Given the description of an element on the screen output the (x, y) to click on. 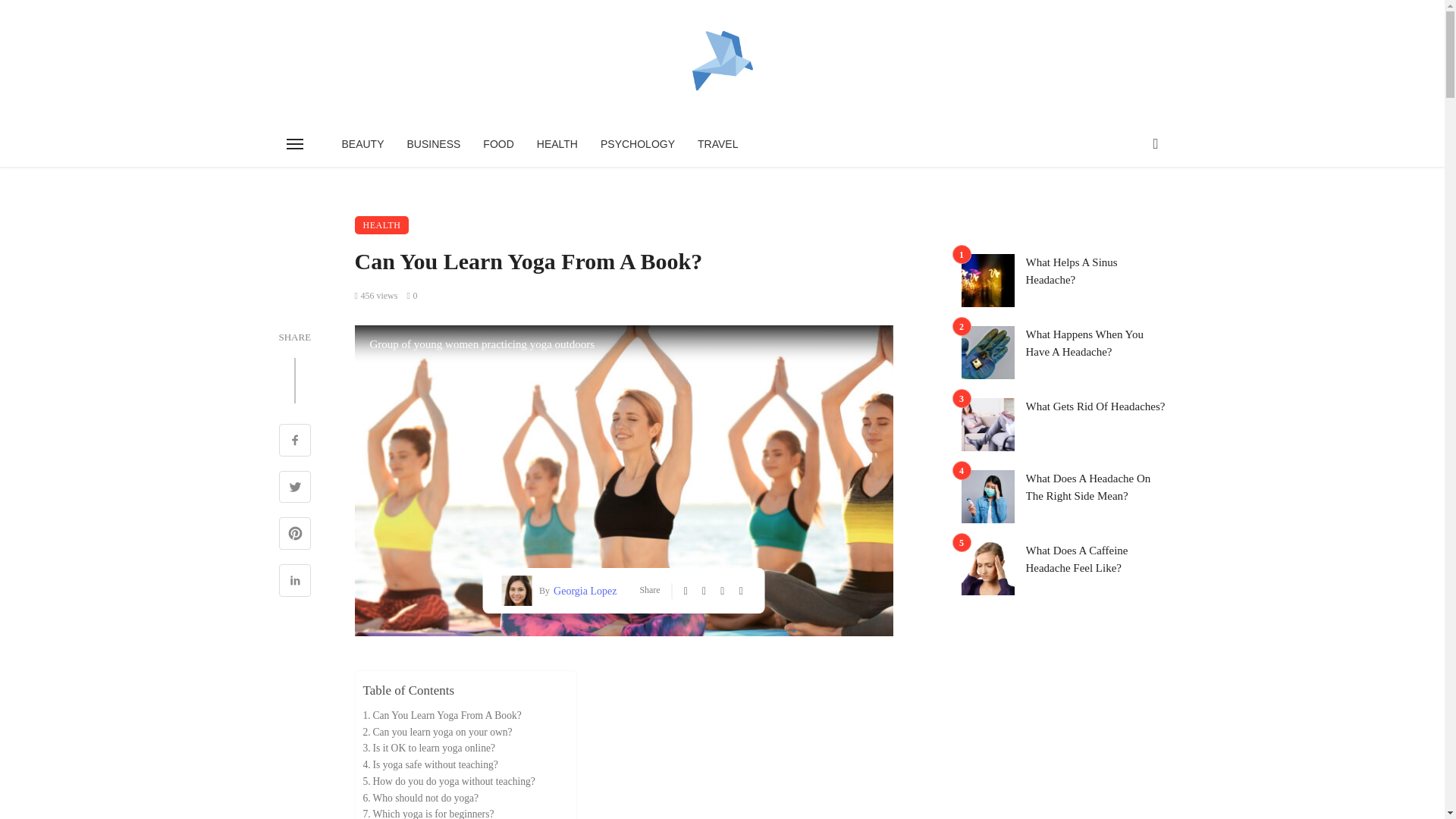
Can you learn yoga on your own? (437, 731)
FOOD (497, 144)
BEAUTY (363, 144)
Can You Learn Yoga From A Book? (441, 715)
Share on Facebook (295, 442)
0 (411, 295)
Is it OK to learn yoga online? (428, 748)
Is it OK to learn yoga online? (428, 748)
Who should not do yoga? (420, 798)
HEALTH (382, 225)
